Given the description of an element on the screen output the (x, y) to click on. 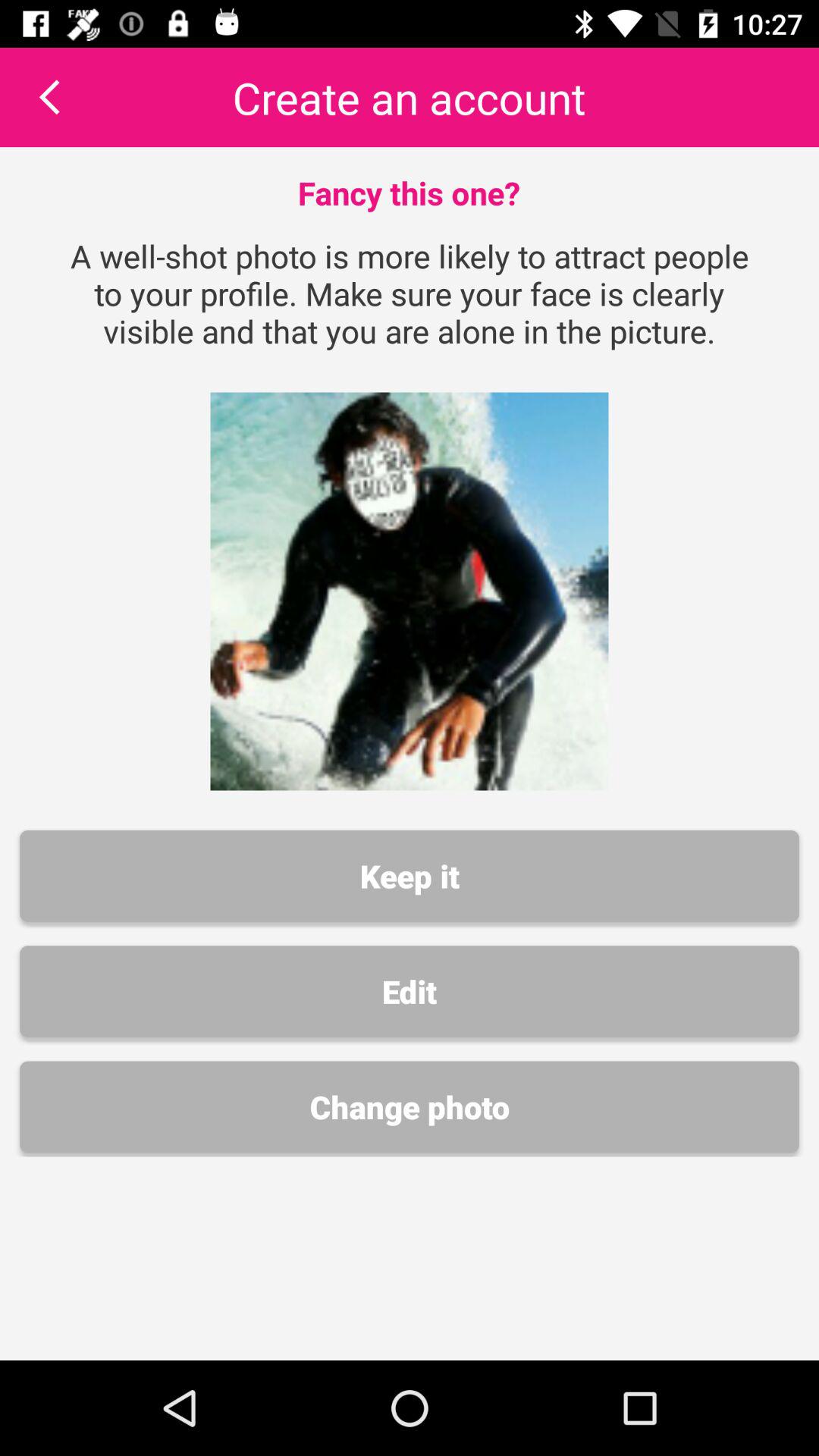
turn off item above the edit button (409, 875)
